Given the description of an element on the screen output the (x, y) to click on. 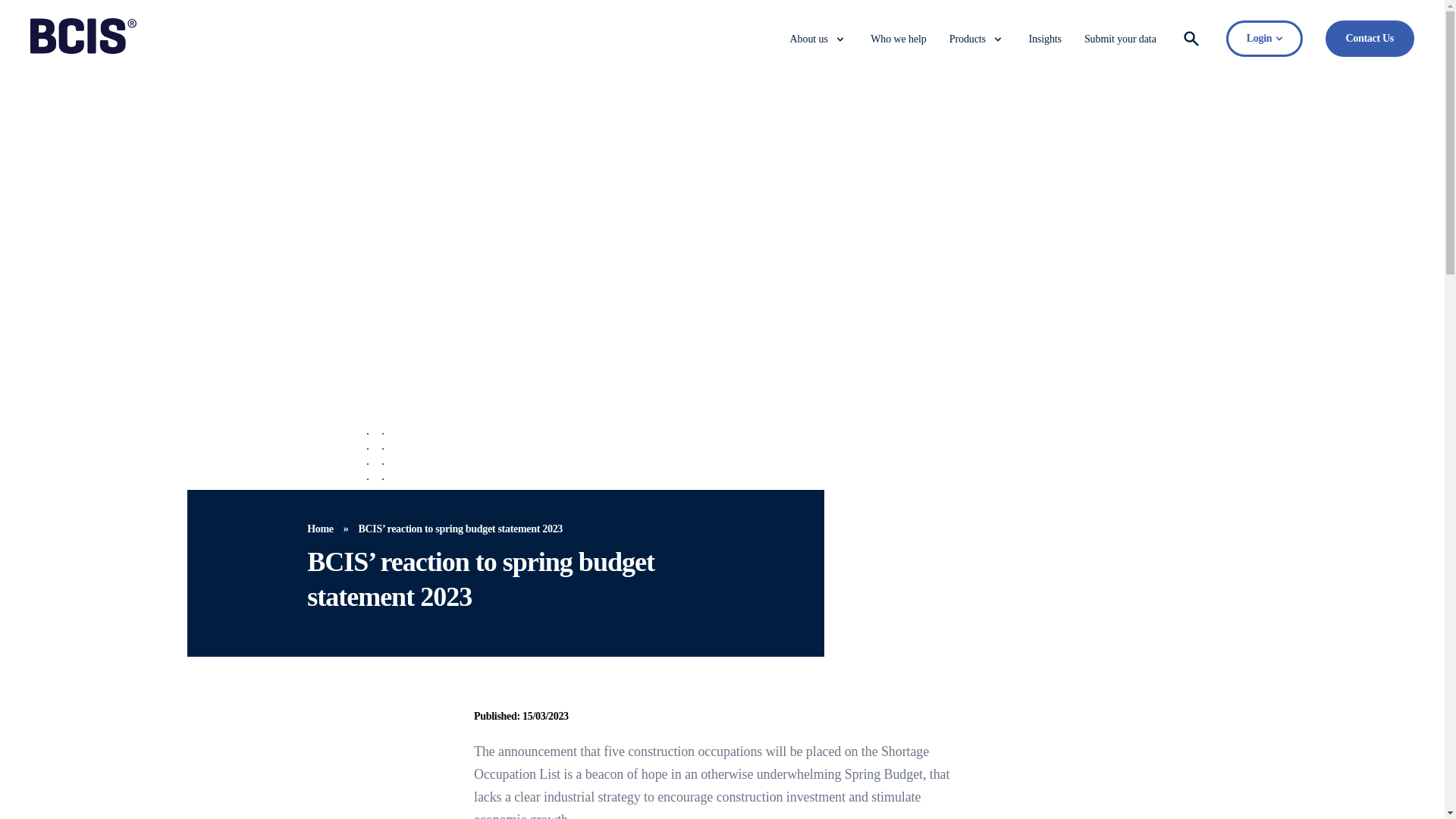
Contact Us (1369, 38)
Who we help (898, 39)
Login (1264, 38)
About us (809, 39)
BCIS logo (83, 49)
Products (967, 39)
Submit your data (1120, 39)
Insights (1044, 39)
BCIS logo (83, 36)
